Given the description of an element on the screen output the (x, y) to click on. 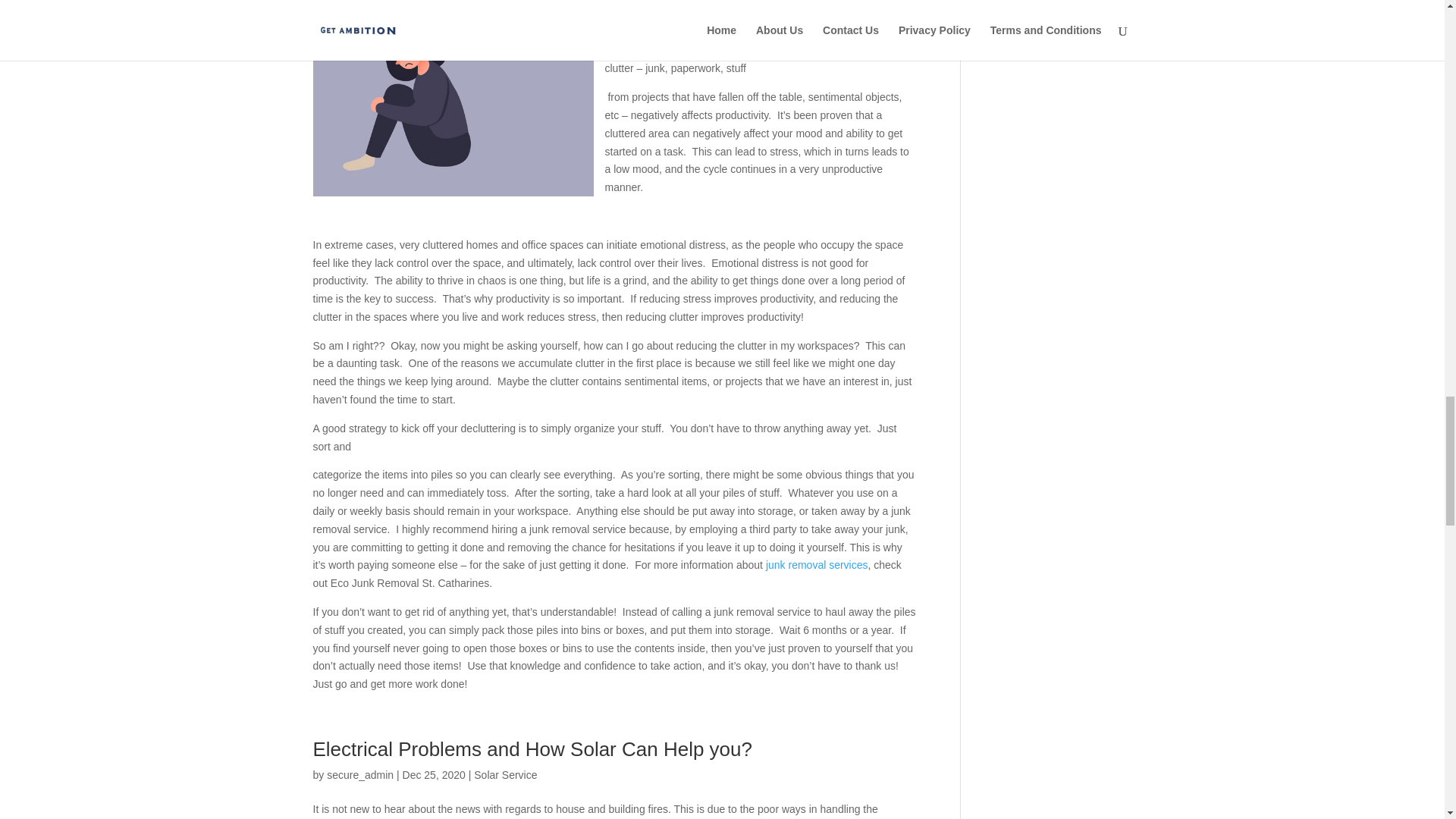
junk removal services (816, 564)
Electrical Problems and How Solar Can Help you?  (535, 748)
Solar Service (505, 775)
